Given the description of an element on the screen output the (x, y) to click on. 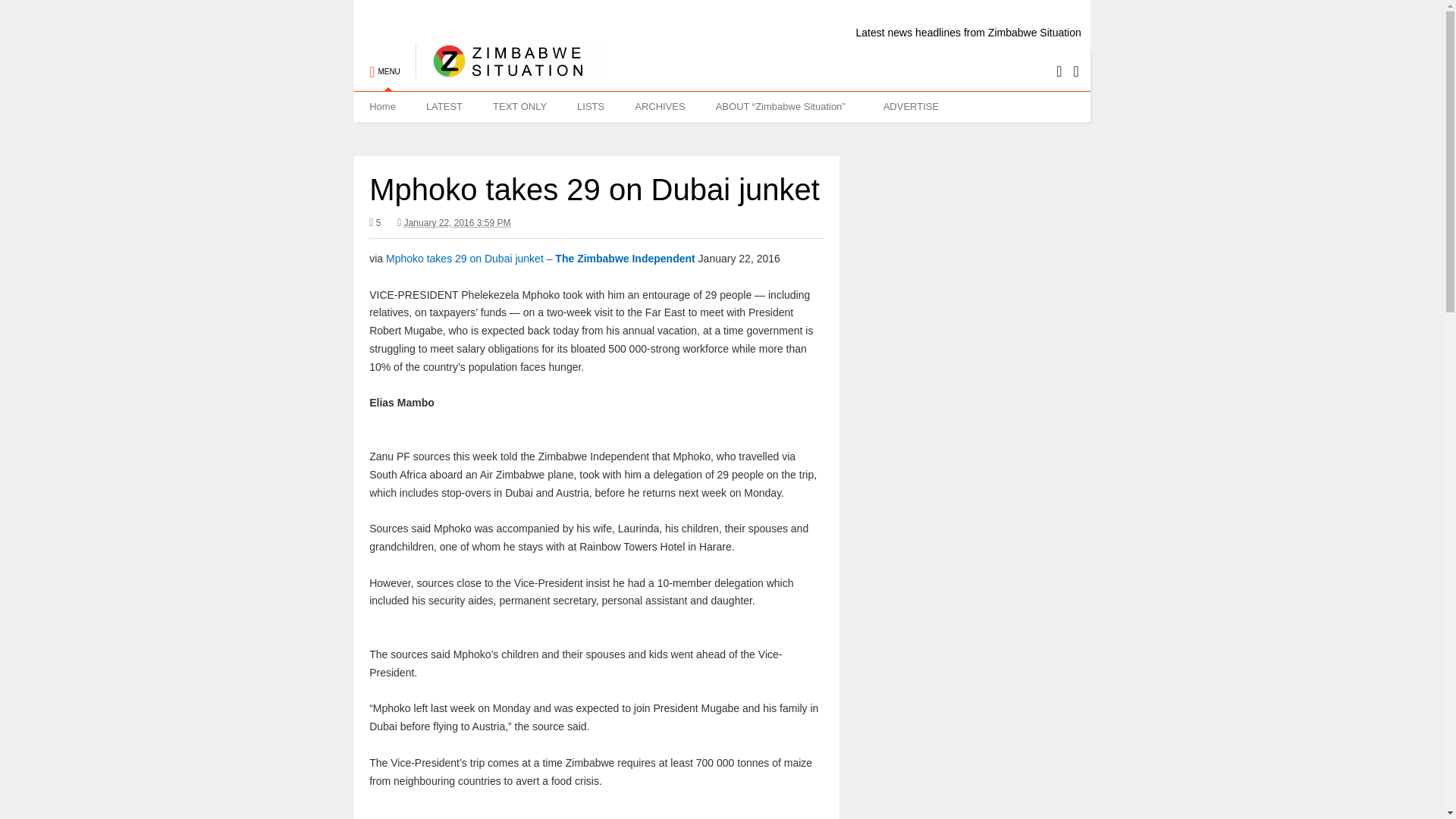
January 22, 2016 3:59 PM (454, 222)
Zimbabwe Situation (510, 71)
MENU (383, 65)
LATEST (443, 106)
Home (381, 106)
LISTS (591, 106)
ADVERTISE (910, 106)
TEXT ONLY (519, 106)
January 22, 2016 4:33 PM (457, 222)
ARCHIVES (660, 106)
